Given the description of an element on the screen output the (x, y) to click on. 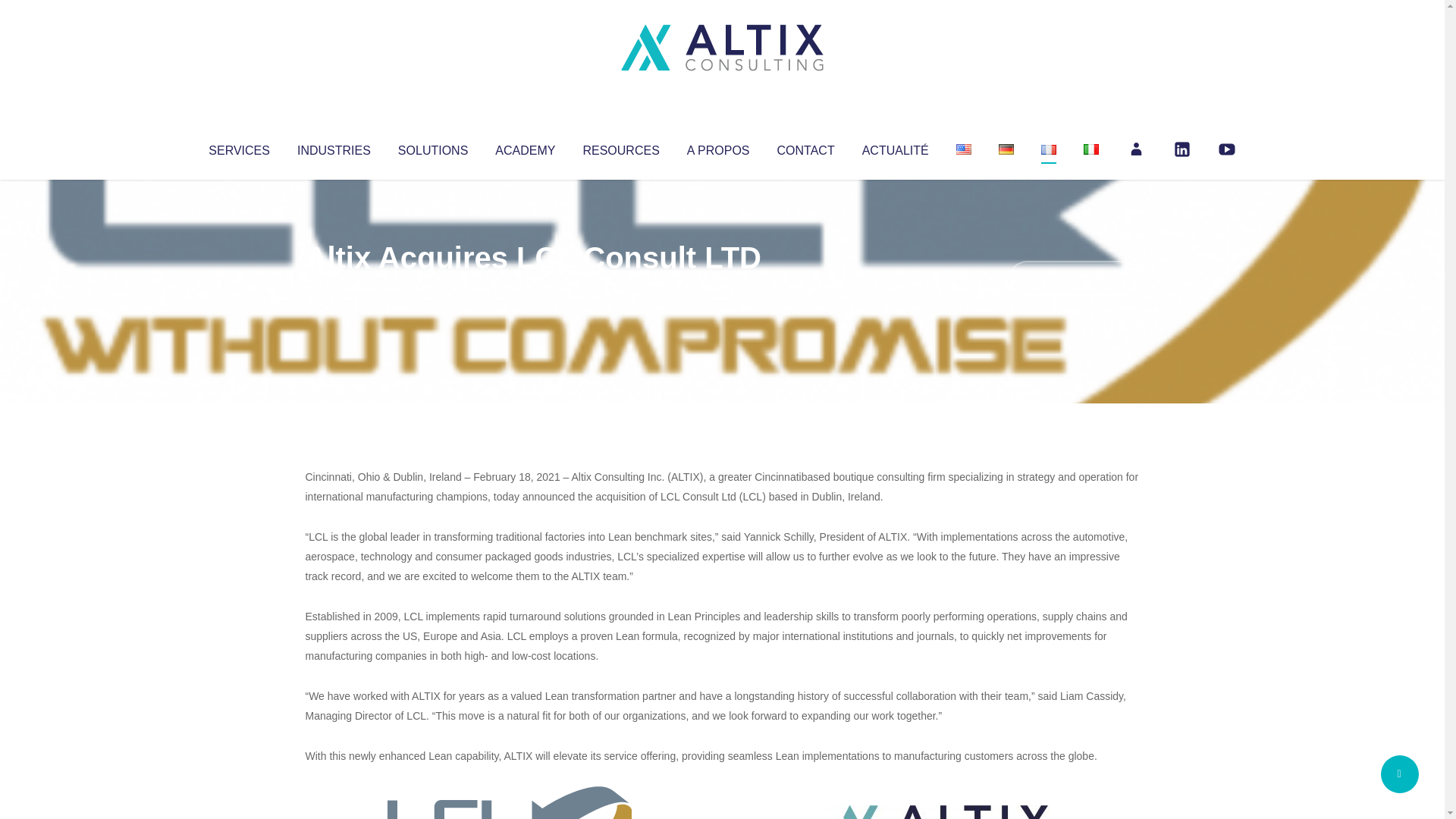
SERVICES (238, 146)
A PROPOS (718, 146)
Articles par Altix (333, 287)
RESOURCES (620, 146)
INDUSTRIES (334, 146)
SOLUTIONS (432, 146)
ACADEMY (524, 146)
No Comments (1073, 278)
Altix (333, 287)
Uncategorized (530, 287)
